Given the description of an element on the screen output the (x, y) to click on. 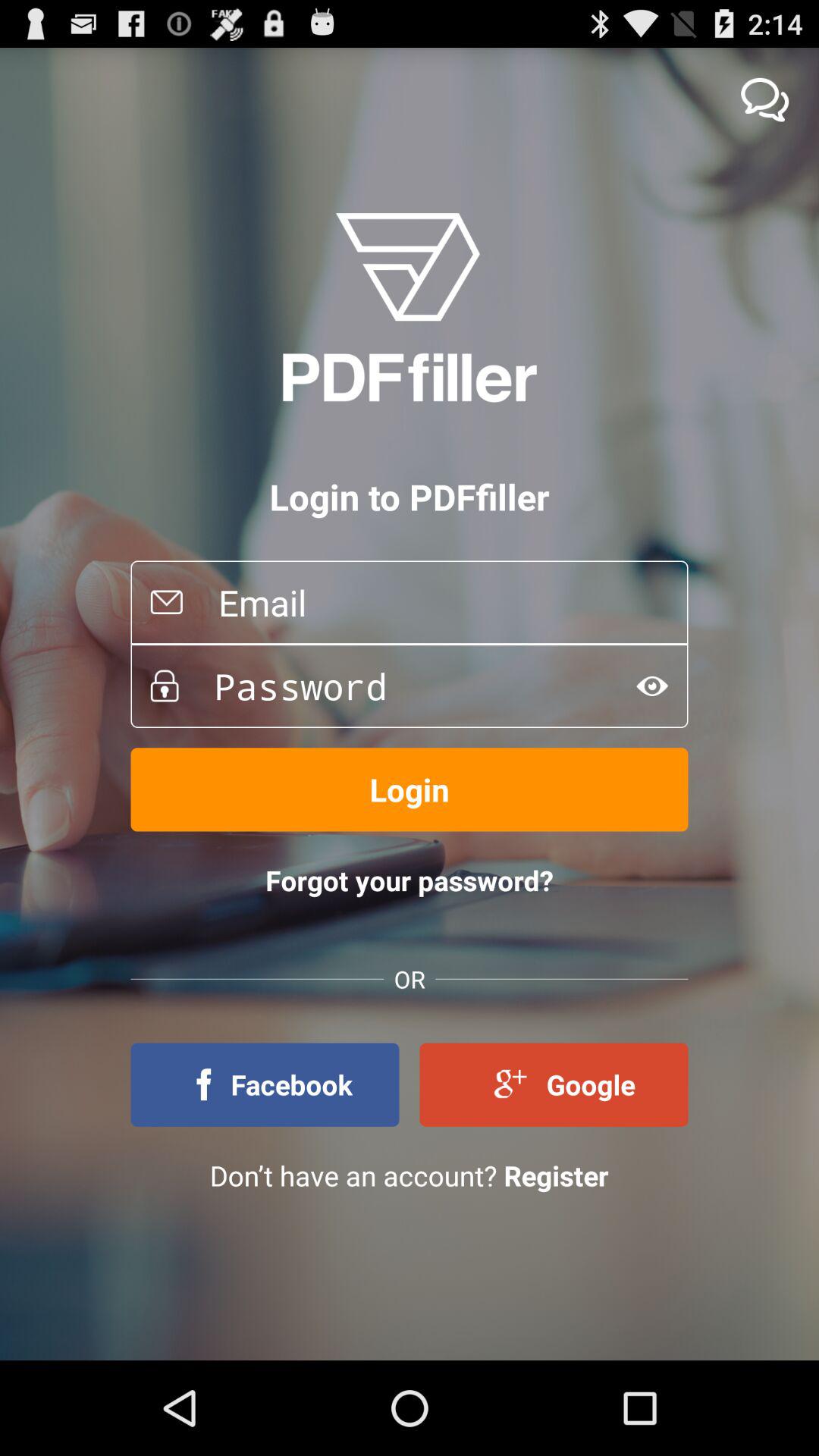
enter password (397, 686)
